Given the description of an element on the screen output the (x, y) to click on. 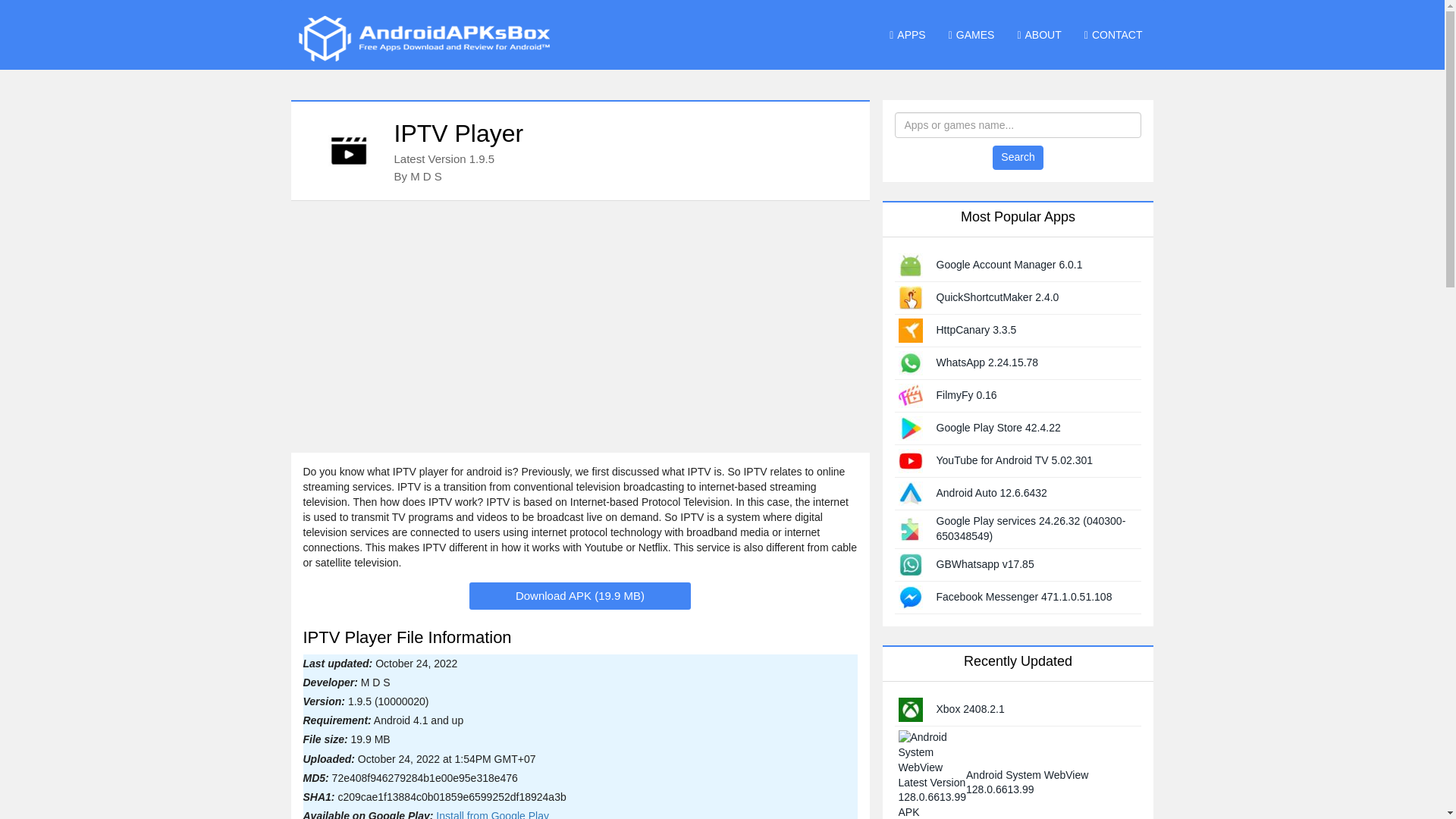
WhatsApp 2.24.15.78 (987, 362)
ABOUT (1038, 34)
Google Play Store 42.4.22 (997, 427)
Search (1017, 157)
HttpCanary 3.3.5 (976, 329)
YouTube for Android TV 5.02.301 (1014, 460)
APPS (906, 34)
AndroidAPKsBox (423, 37)
Search (1017, 157)
Android Auto 12.6.6432 (991, 492)
